Given the description of an element on the screen output the (x, y) to click on. 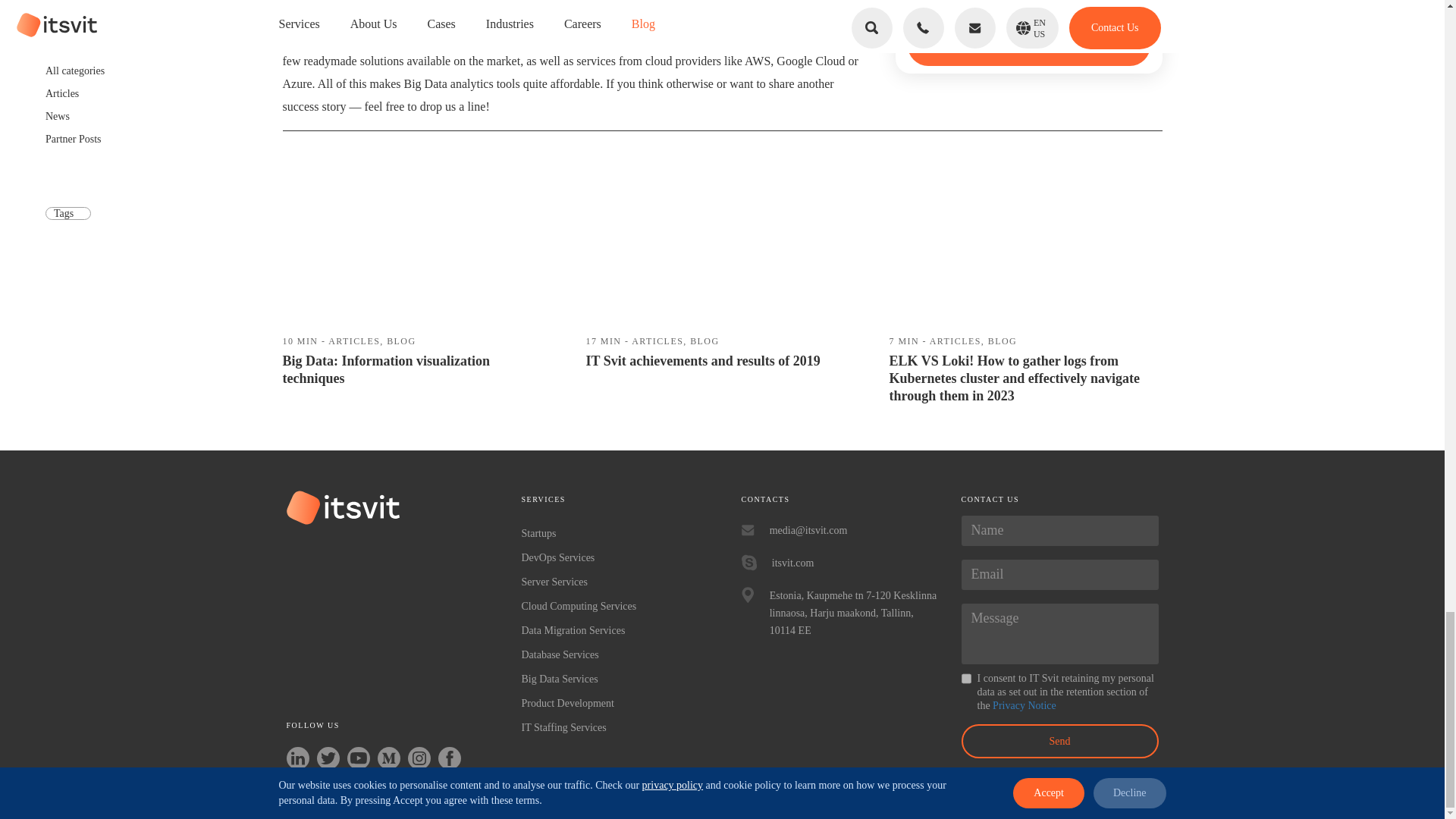
yes (965, 678)
Subscribe (1028, 45)
Send (1059, 740)
